Given the description of an element on the screen output the (x, y) to click on. 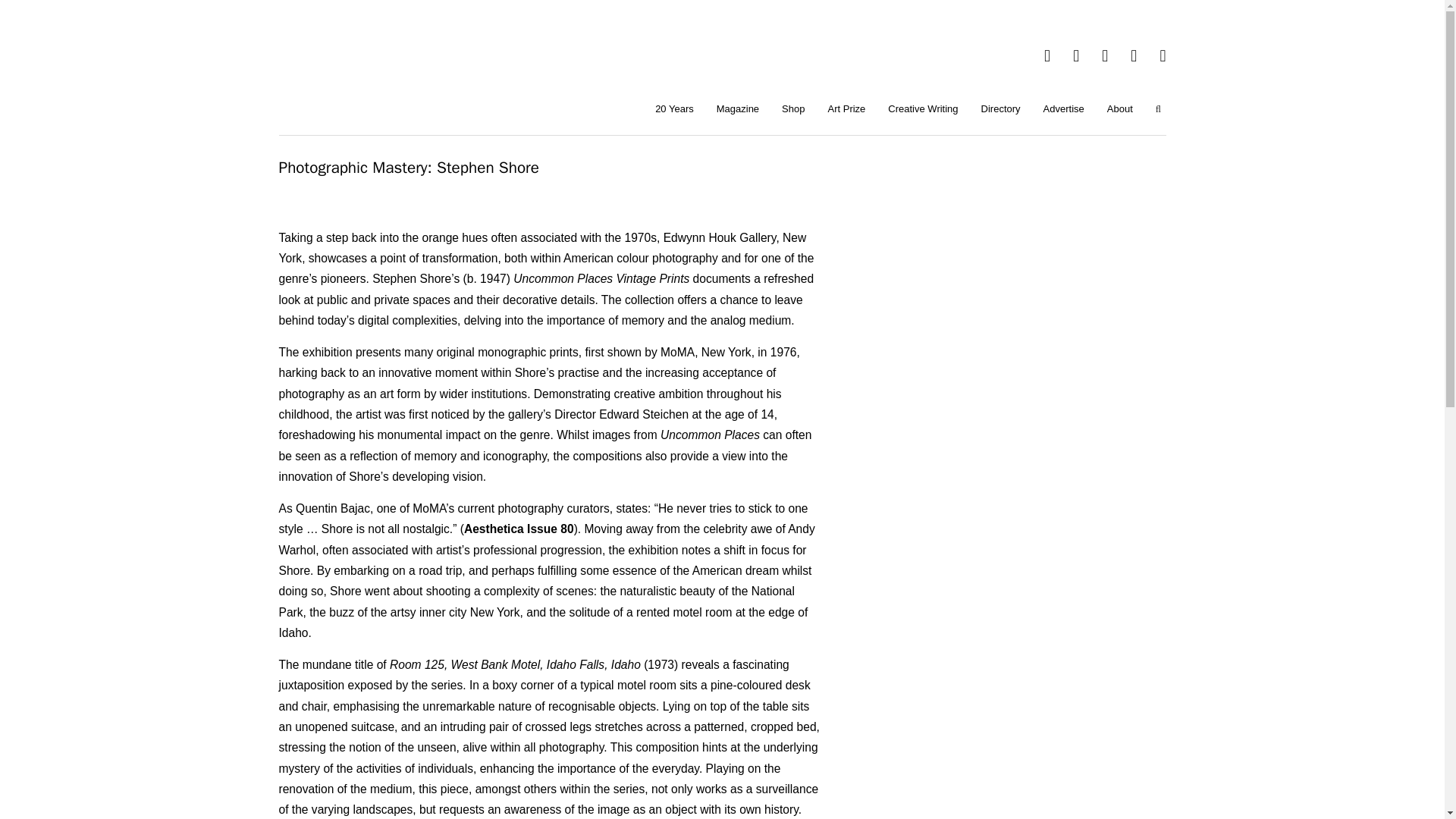
Advertise (1064, 109)
Shop (792, 109)
Magazine (737, 109)
20 Years (673, 109)
Directory (1000, 109)
Aesthetica Issue 80 (518, 528)
About (1120, 109)
Art Prize (845, 109)
Creative Writing (922, 109)
